Given the description of an element on the screen output the (x, y) to click on. 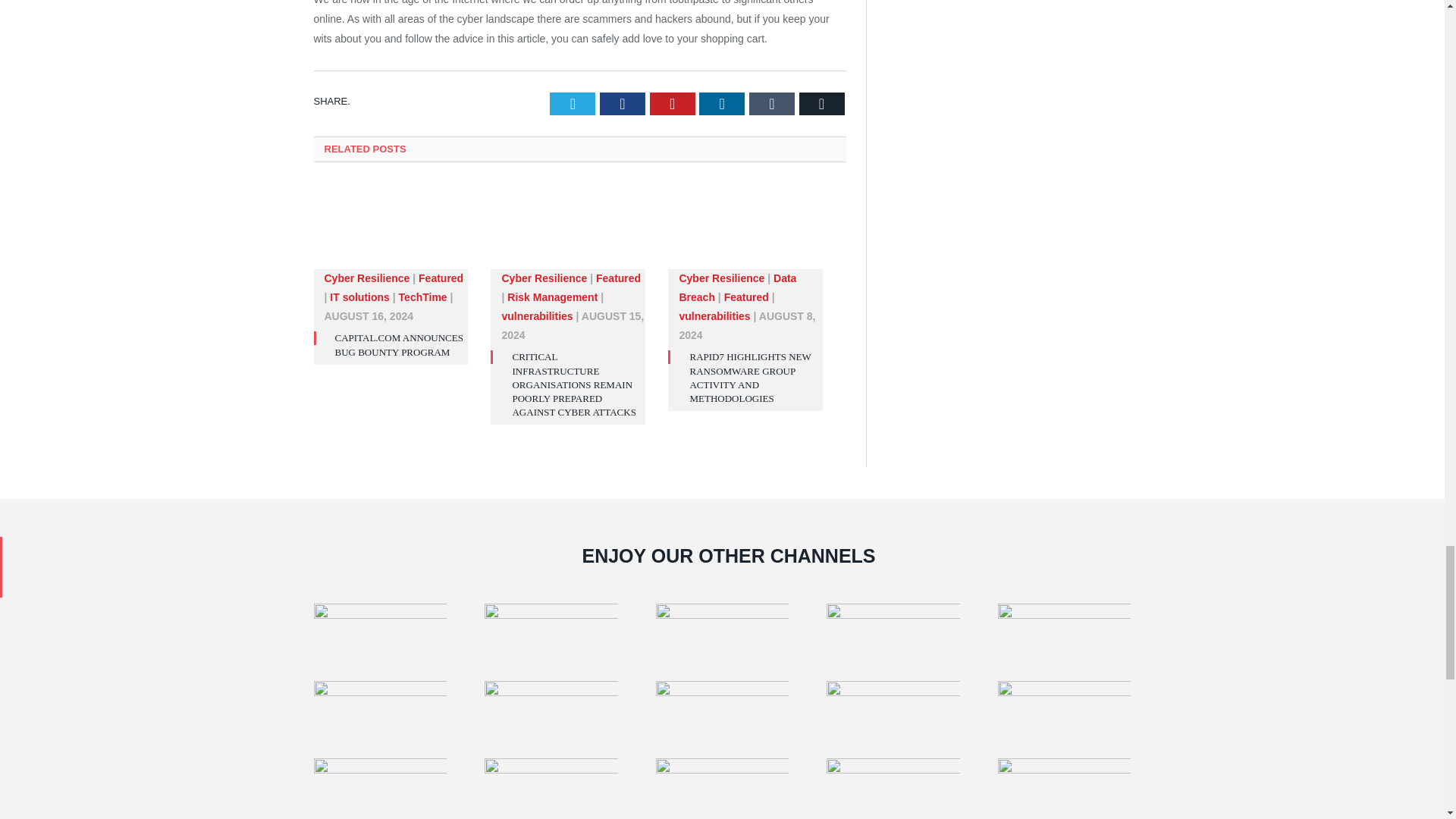
Share on LinkedIn (721, 103)
Capital.com Announces Bug Bounty Program (398, 344)
Share on Facebook (622, 103)
Share via Email (821, 103)
Share on Tumblr (771, 103)
Tweet It (572, 103)
Capital.com Announces Bug Bounty Program (391, 233)
Share on Pinterest (672, 103)
